Given the description of an element on the screen output the (x, y) to click on. 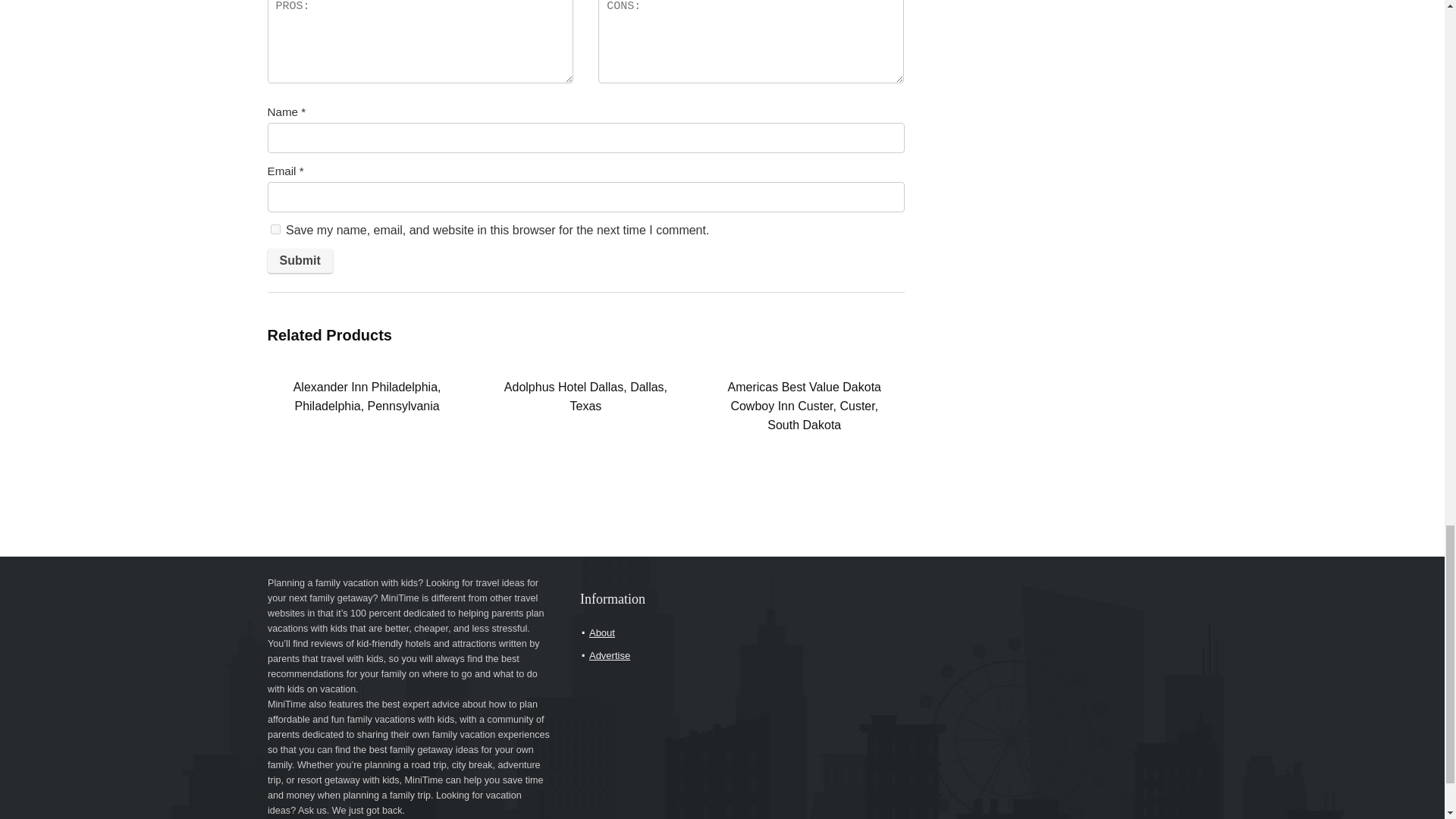
yes (274, 229)
Submit (298, 260)
